Given the description of an element on the screen output the (x, y) to click on. 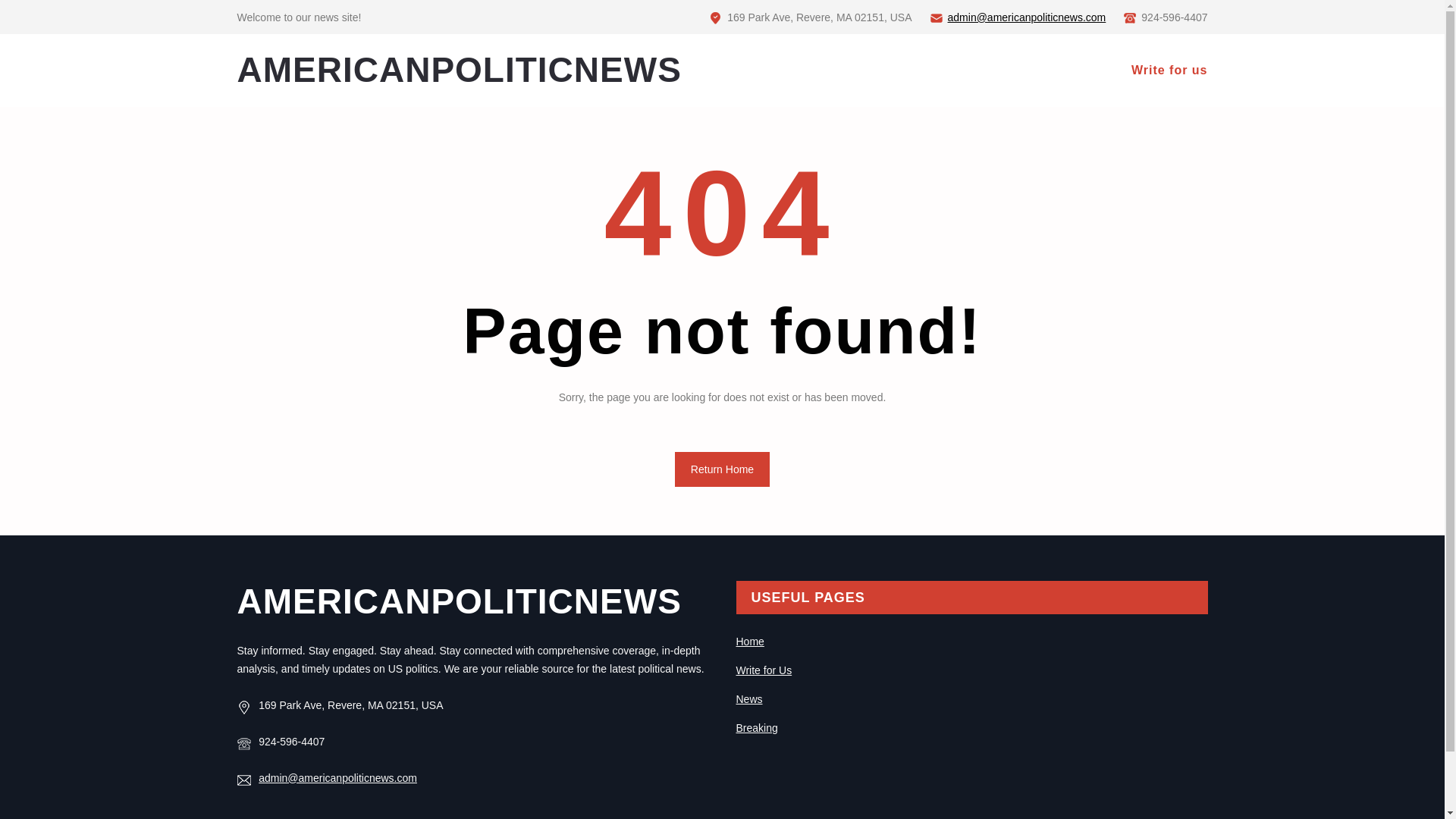
News (748, 698)
Home (748, 641)
AMERICANPOLITICNEWS (458, 69)
Breaking (756, 727)
AMERICANPOLITICNEWS (458, 600)
Write for Us (763, 670)
Write for us (1169, 70)
Return Home (722, 469)
